Given the description of an element on the screen output the (x, y) to click on. 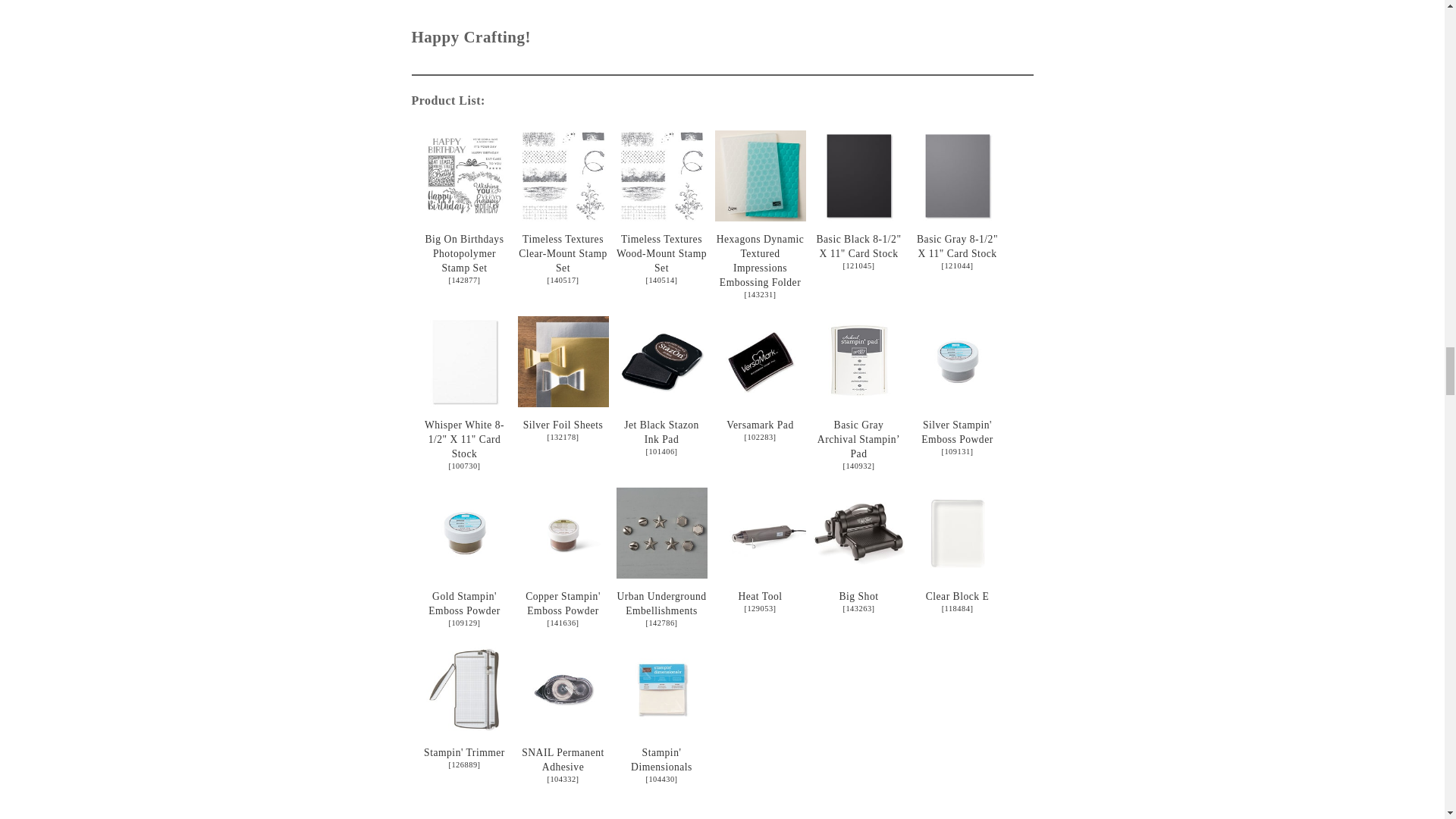
Timeless Textures Clear-Mount Stamp Set (562, 280)
Timeless Textures Clear-Mount Stamp Set (562, 175)
Big On Birthdays Photopolymer Stamp Set (464, 253)
Timeless Textures Wood-Mount Stamp Set (660, 175)
Big On Birthdays Photopolymer Stamp Set (464, 216)
Timeless Textures Wood-Mount Stamp Set (660, 253)
Big On Birthdays Photopolymer Stamp Set (464, 175)
Timeless Textures Clear-Mount Stamp Set (562, 253)
Timeless Textures Clear-Mount Stamp Set (562, 216)
Big On Birthdays Photopolymer Stamp Set (464, 280)
Timeless Textures Wood-Mount Stamp Set (660, 216)
